Given the description of an element on the screen output the (x, y) to click on. 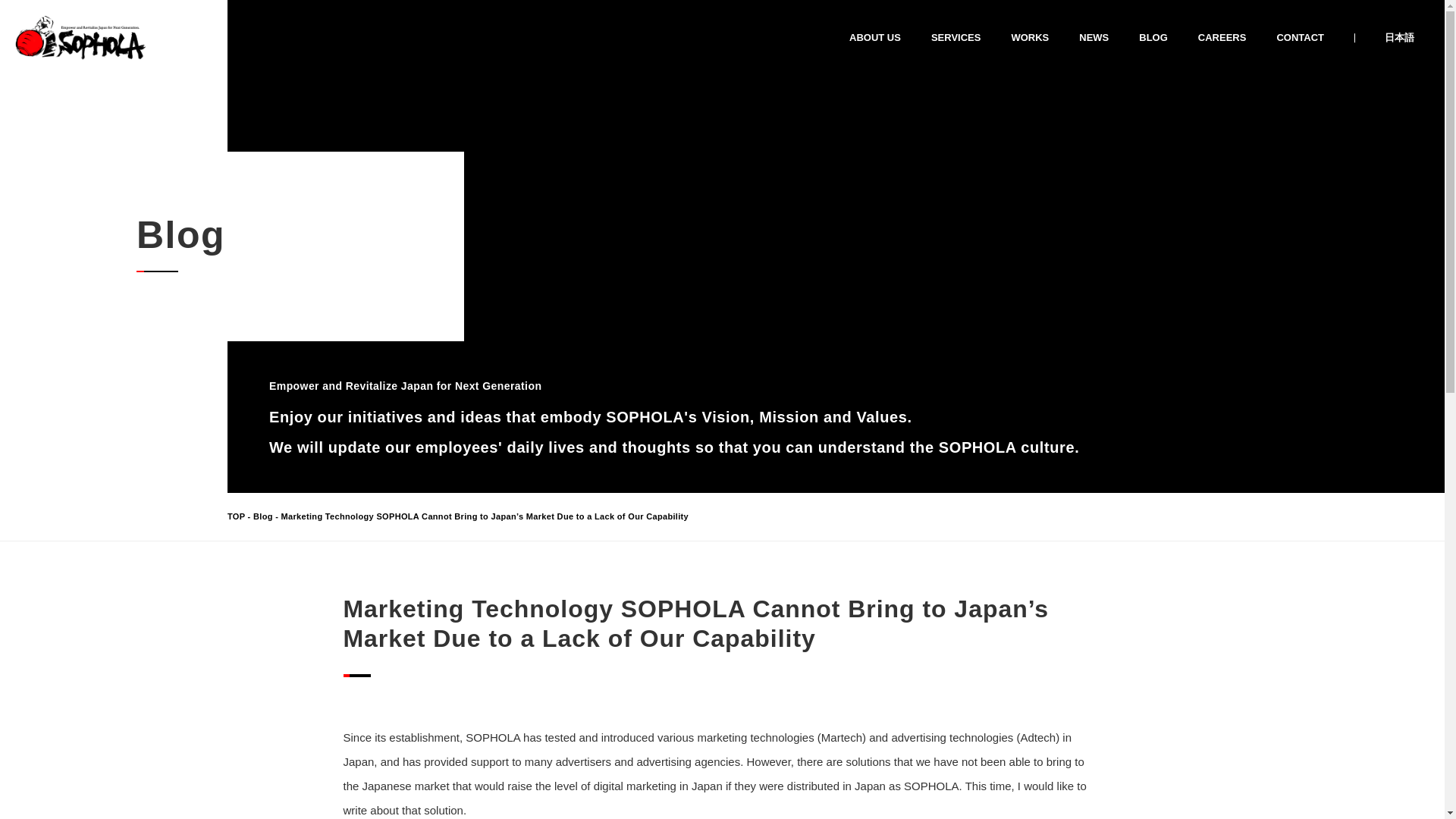
TOP (235, 515)
WORKS (1029, 37)
CAREERS (1222, 37)
SERVICES (956, 37)
ABOUT US (874, 37)
CONTACT (1299, 37)
NEWS (1093, 37)
BLOG (1152, 37)
Blog (263, 515)
